Given the description of an element on the screen output the (x, y) to click on. 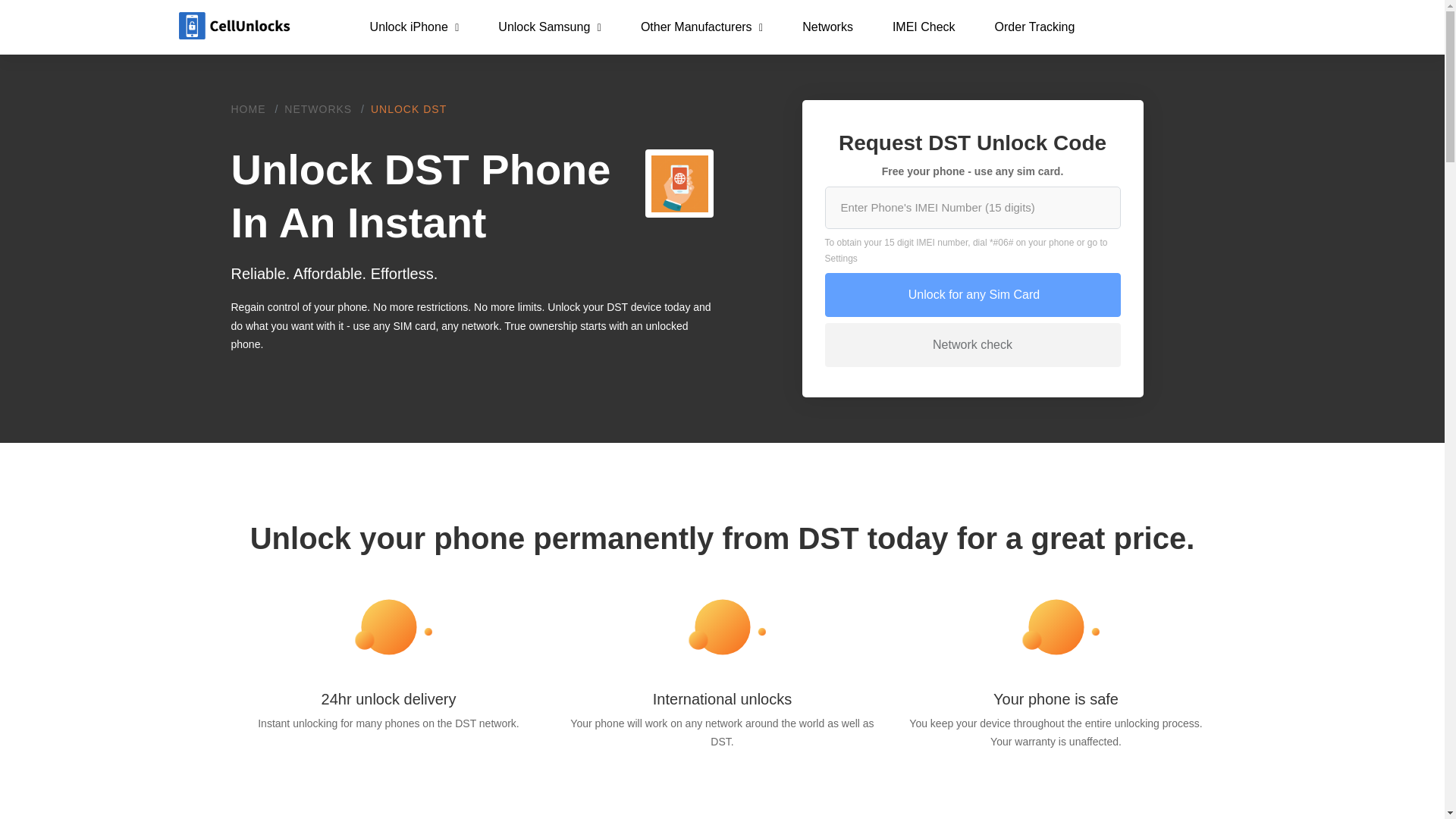
Unlock iPhone (414, 27)
Unlock iPhone (414, 27)
CellUnlocks (234, 25)
CellUnlocks (234, 27)
